Given the description of an element on the screen output the (x, y) to click on. 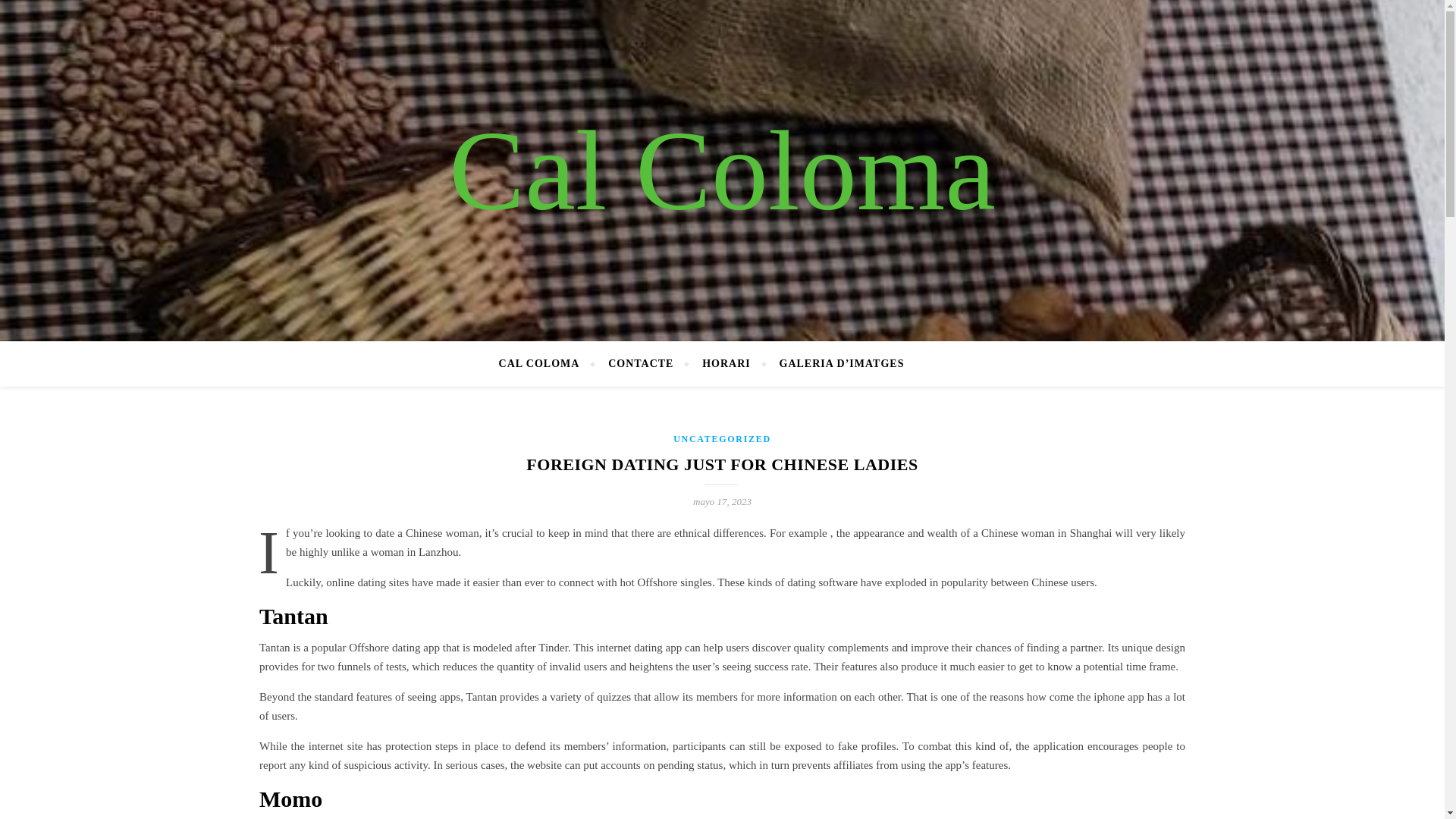
CAL COLOMA (545, 363)
HORARI (725, 363)
CONTACTE (640, 363)
UNCATEGORIZED (721, 439)
